Given the description of an element on the screen output the (x, y) to click on. 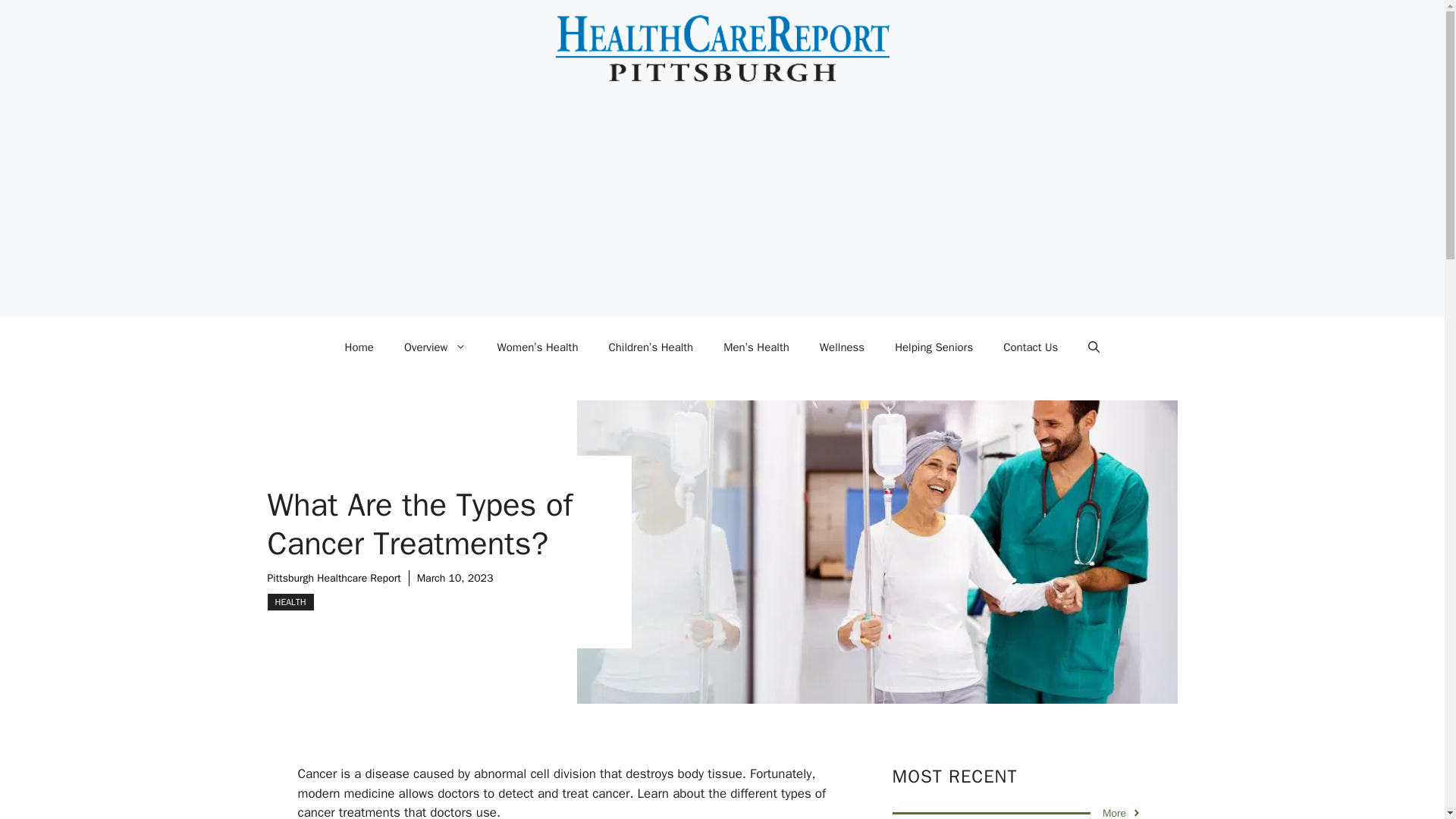
HEALTH (289, 601)
More (1121, 812)
Overview (434, 347)
Contact Us (1030, 347)
Home (359, 347)
Helping Seniors (933, 347)
Wellness (842, 347)
Pittsburgh Healthcare Report (333, 577)
